Given the description of an element on the screen output the (x, y) to click on. 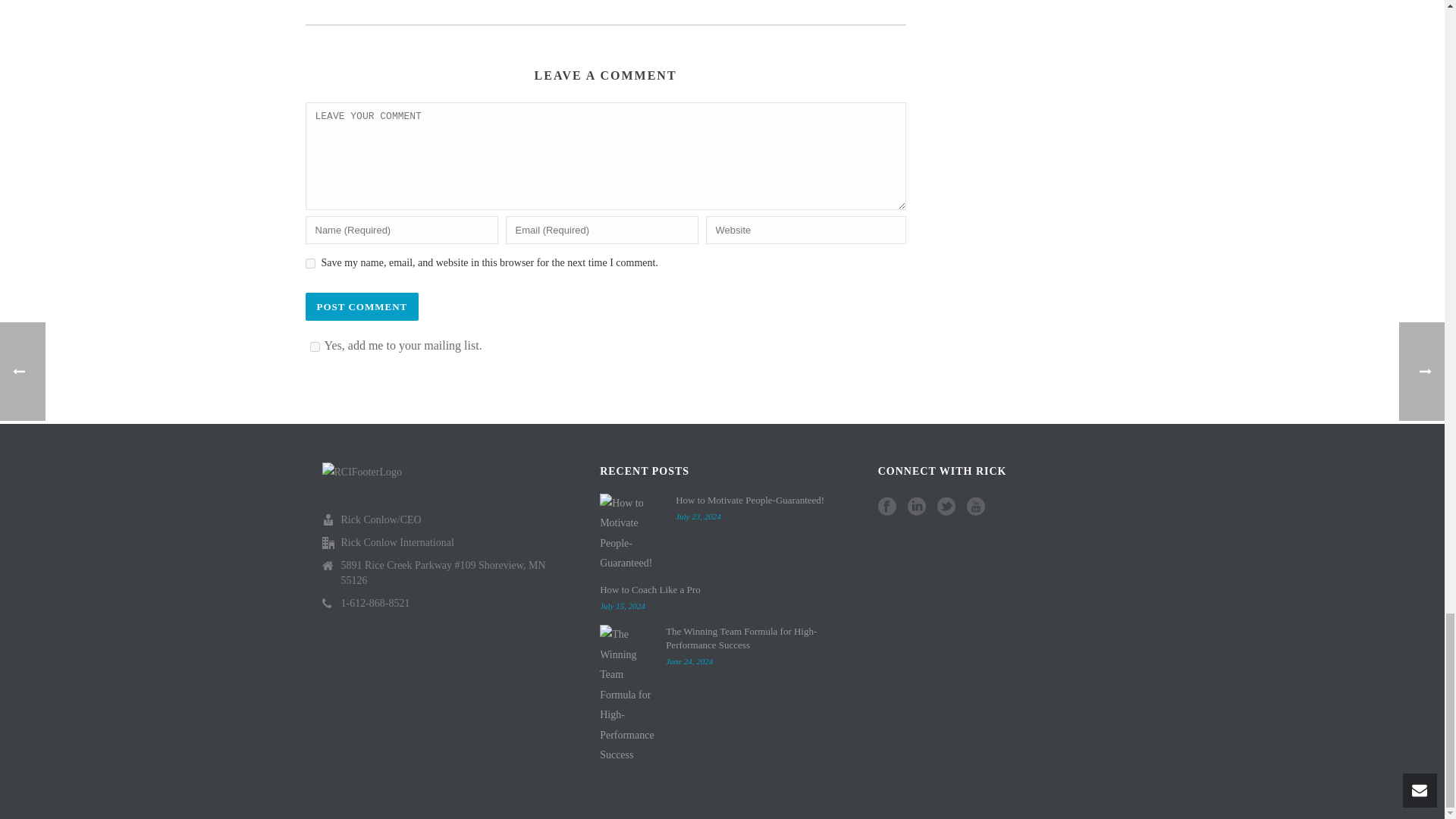
1 (313, 347)
yes (309, 263)
POST COMMENT (361, 306)
